Given the description of an element on the screen output the (x, y) to click on. 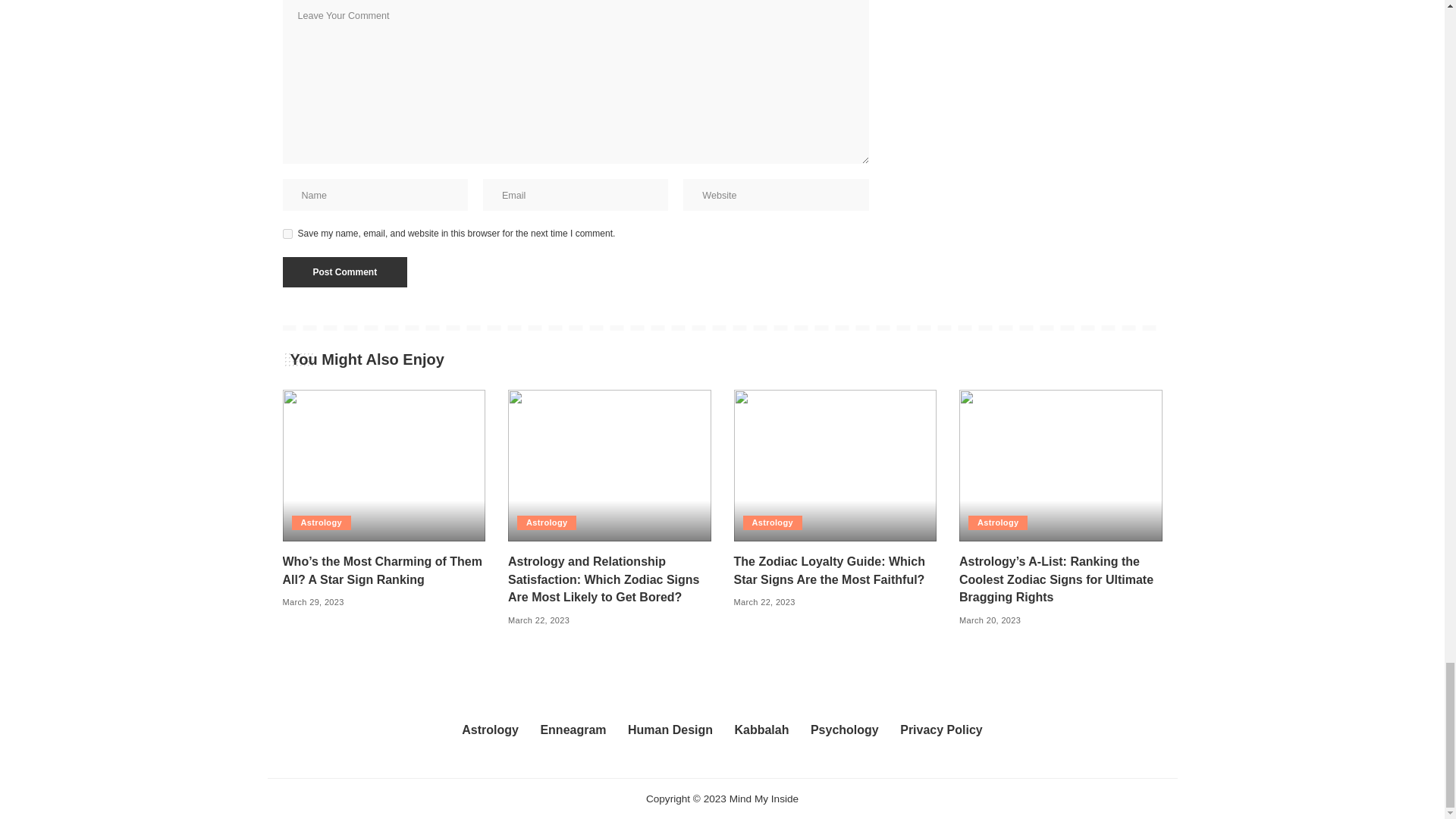
yes (287, 234)
Post Comment (344, 272)
